Given the description of an element on the screen output the (x, y) to click on. 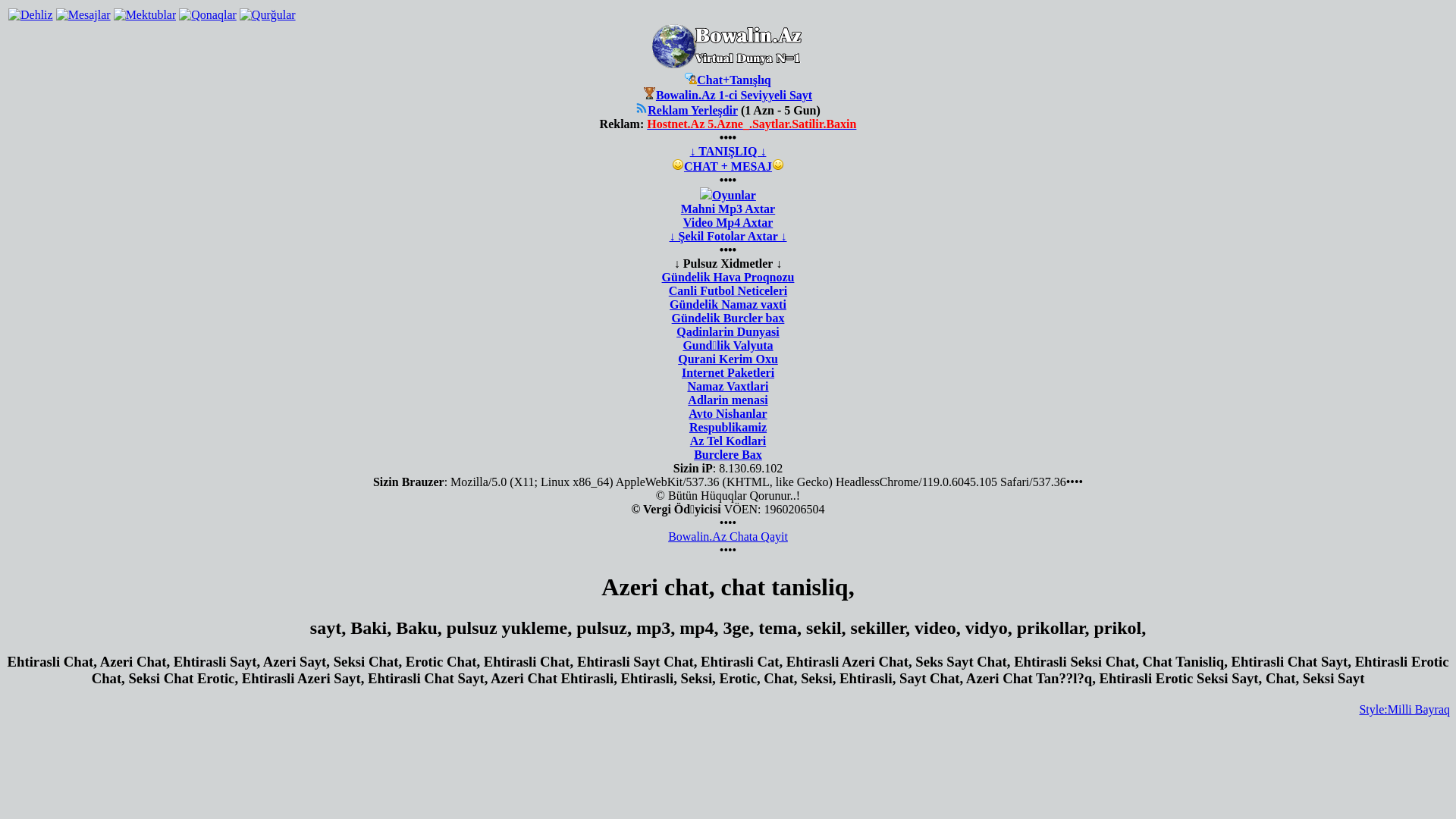
Adlarin menasi Element type: text (727, 399)
CHAT + MESAJ Element type: text (727, 166)
Qurani Kerim Oxu Element type: text (727, 358)
Avto Nishanlar Element type: text (727, 413)
Mesajlar Element type: hover (83, 14)
Oyunlar Element type: text (734, 194)
Mesajlar Element type: hover (83, 14)
Bowalin.Az 1-ci Seviyyeli Sayt Element type: text (733, 94)
Mektublar Element type: hover (144, 14)
Mektublar Element type: hover (144, 14)
Burclere Bax Element type: text (727, 454)
Namaz Vaxtlari Element type: text (727, 385)
Video Mp4 Axtar Element type: text (728, 222)
Qonaqlar Element type: hover (207, 14)
Dehliz Element type: hover (30, 14)
Qonaqlar Element type: hover (207, 14)
Dehliz Element type: hover (30, 14)
Canli Futbol Neticeleri Element type: text (727, 290)
Hostnet.Az 5.Azne_.Saytlar.Satilir.Baxin Element type: text (751, 123)
Az Tel Kodlari Element type: text (727, 440)
Qadinlarin Dunyasi Element type: text (727, 331)
Internet Paketleri Element type: text (727, 372)
Bowalin.Az Chata Qayit Element type: text (727, 536)
Style:Milli Bayraq Element type: text (1403, 708)
Mahni Mp3 Axtar Element type: text (727, 208)
Respublikamiz Element type: text (727, 426)
